Given the description of an element on the screen output the (x, y) to click on. 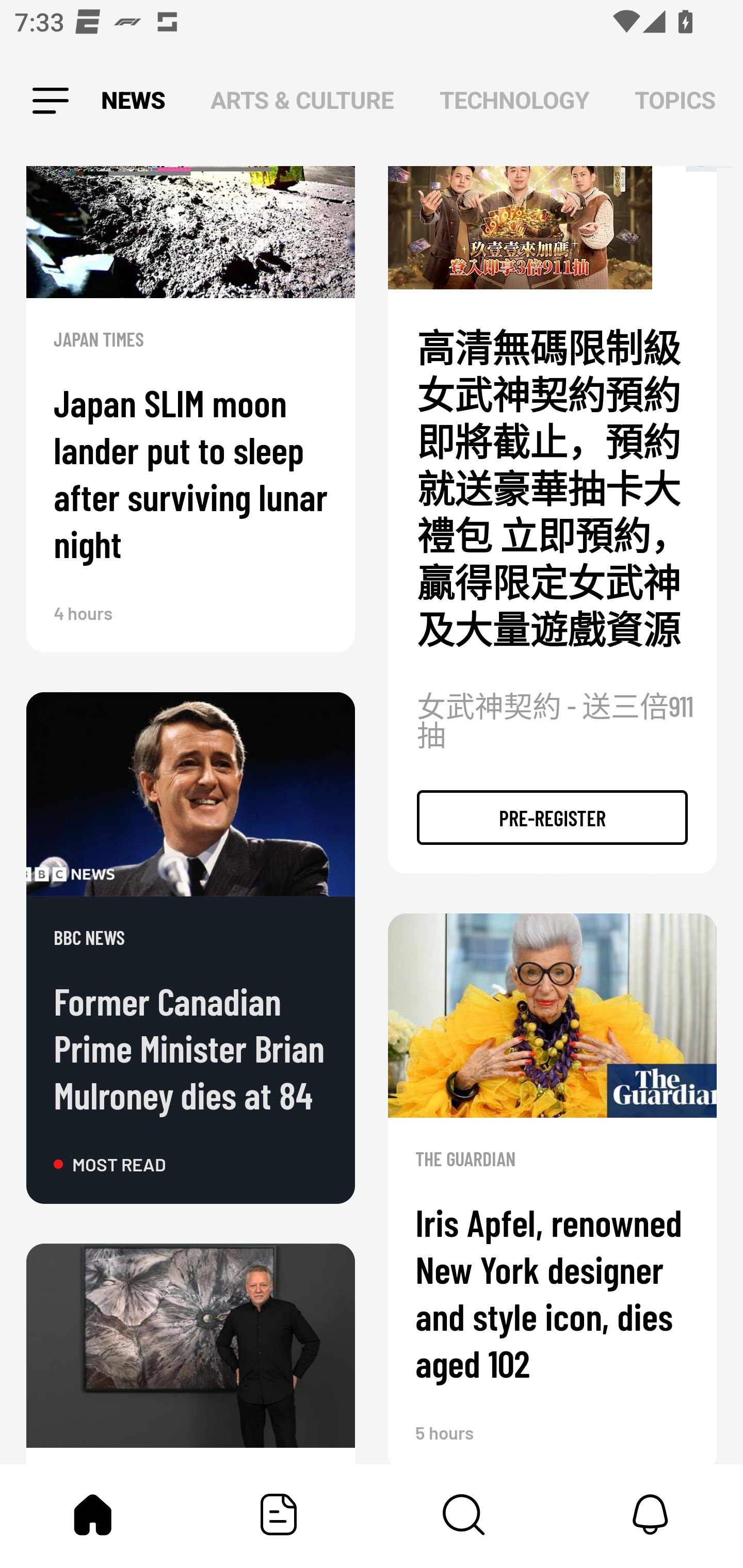
Leading Icon (48, 101)
ARTS & CULTURE (302, 100)
TECHNOLOGY (514, 100)
TOPICS (675, 100)
Featured (278, 1514)
Content Store (464, 1514)
Notifications (650, 1514)
